Given the description of an element on the screen output the (x, y) to click on. 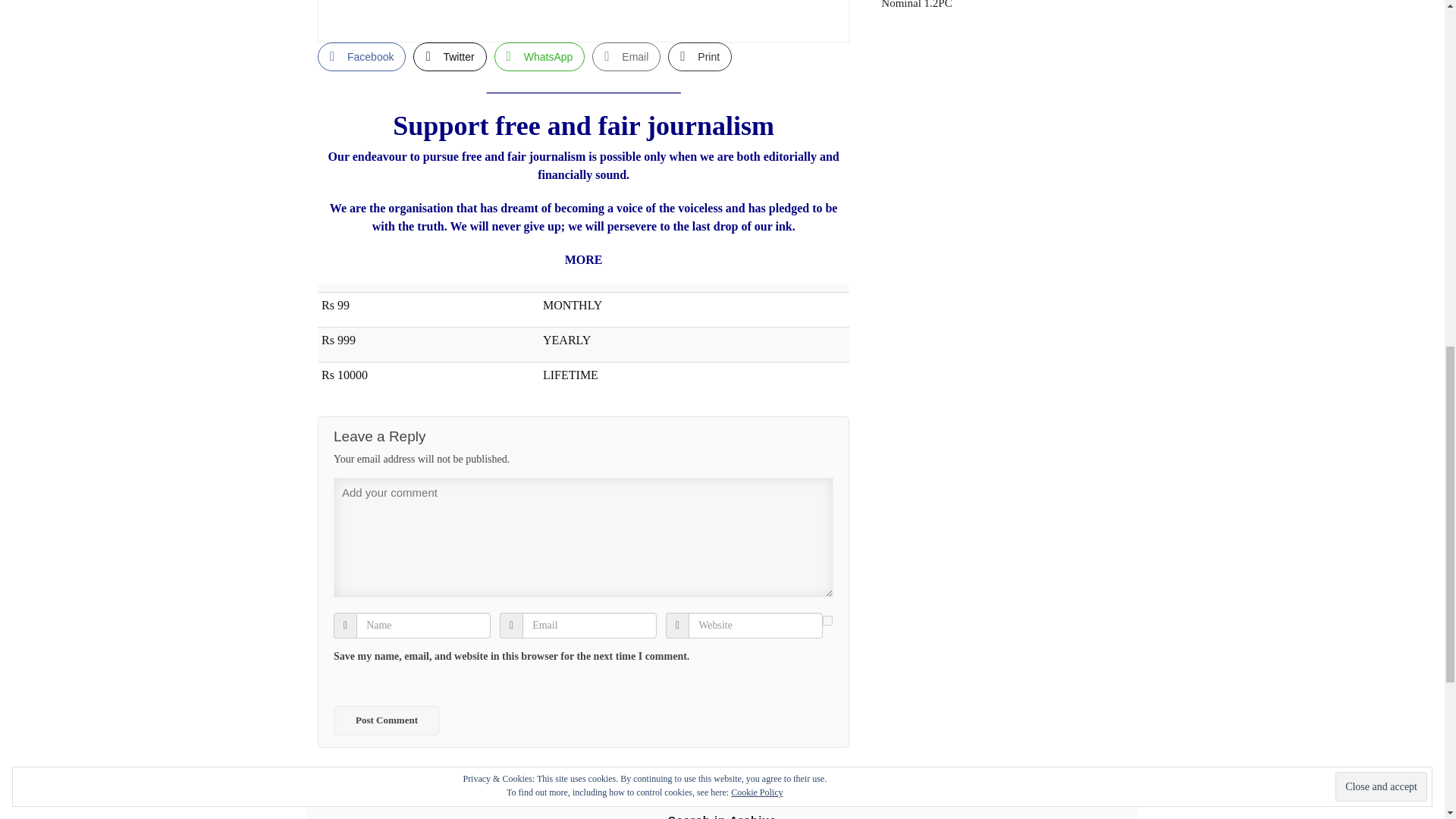
Post Comment (386, 720)
yes (827, 620)
